Given the description of an element on the screen output the (x, y) to click on. 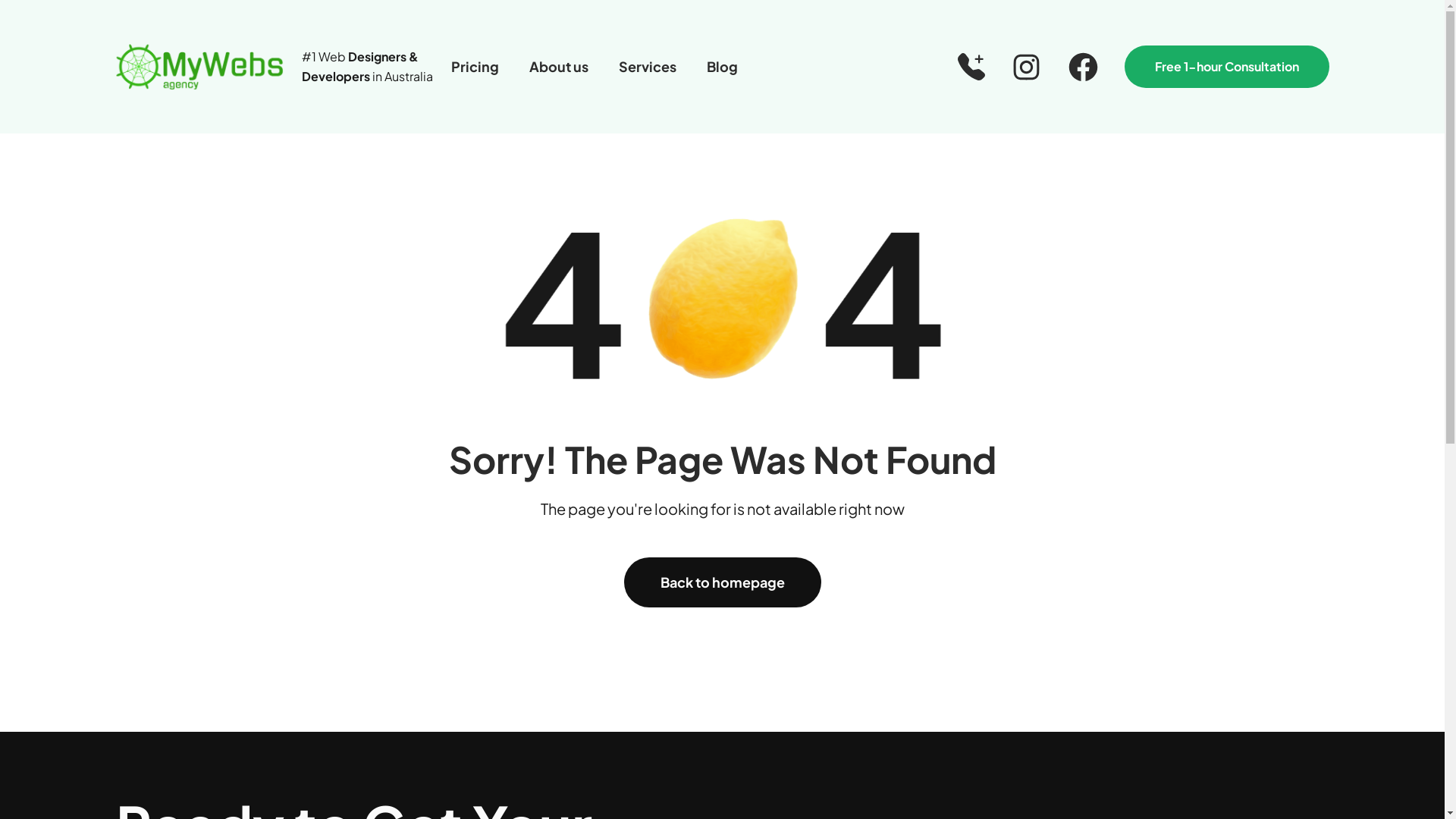
Instagram Element type: text (1025, 67)
Back to homepage Element type: text (721, 582)
Facebook Element type: text (1083, 67)
About us Element type: text (558, 67)
Pricing Element type: text (474, 67)
Blog Element type: text (721, 67)
Services Element type: text (647, 67)
Free 1-hour Consultation Element type: text (1225, 66)
